Given the description of an element on the screen output the (x, y) to click on. 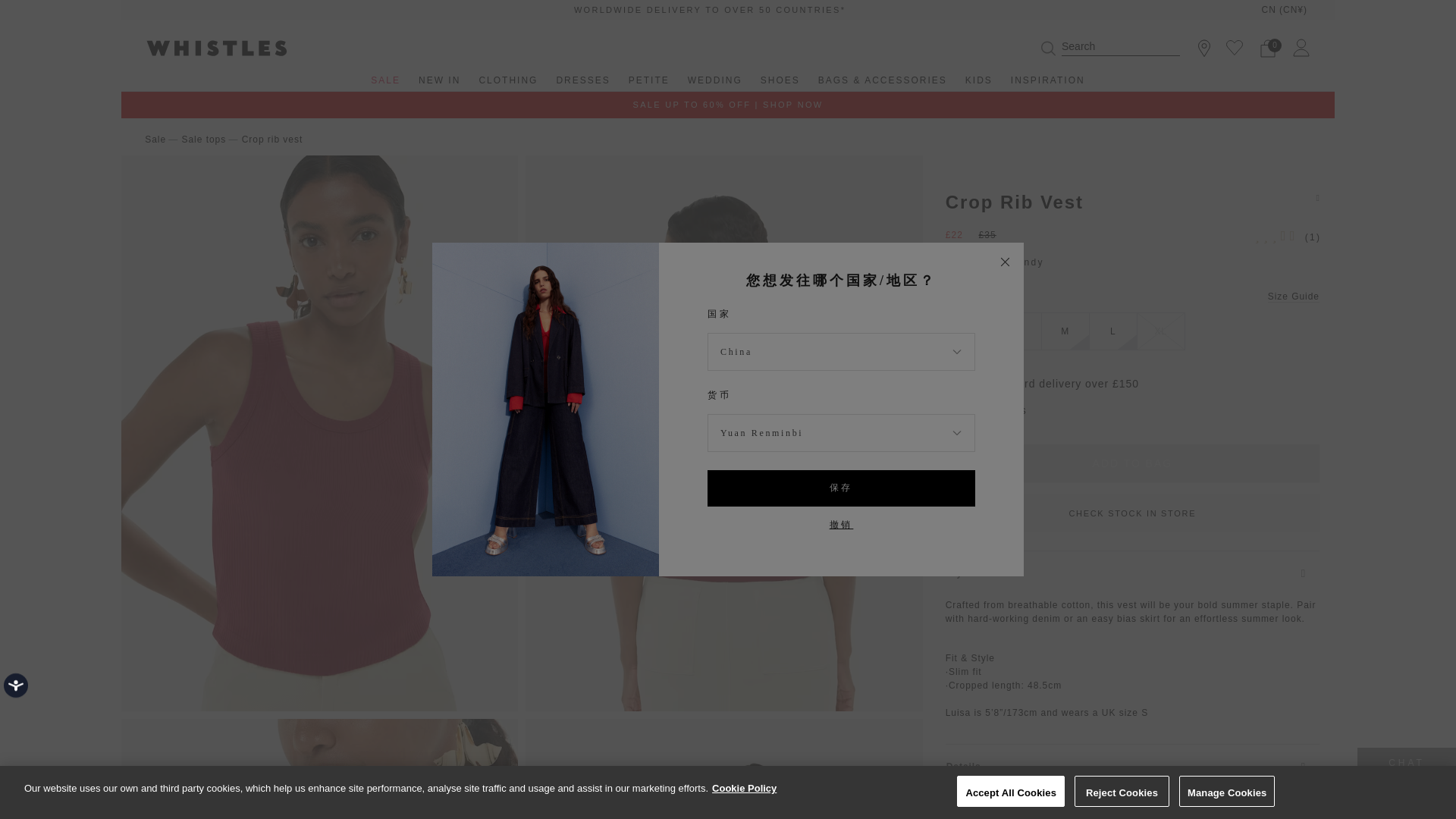
View Bag (1267, 47)
Whistles Home (258, 47)
ACCESSIBILITY (34, 703)
SALE (385, 83)
0 (1267, 47)
